Given the description of an element on the screen output the (x, y) to click on. 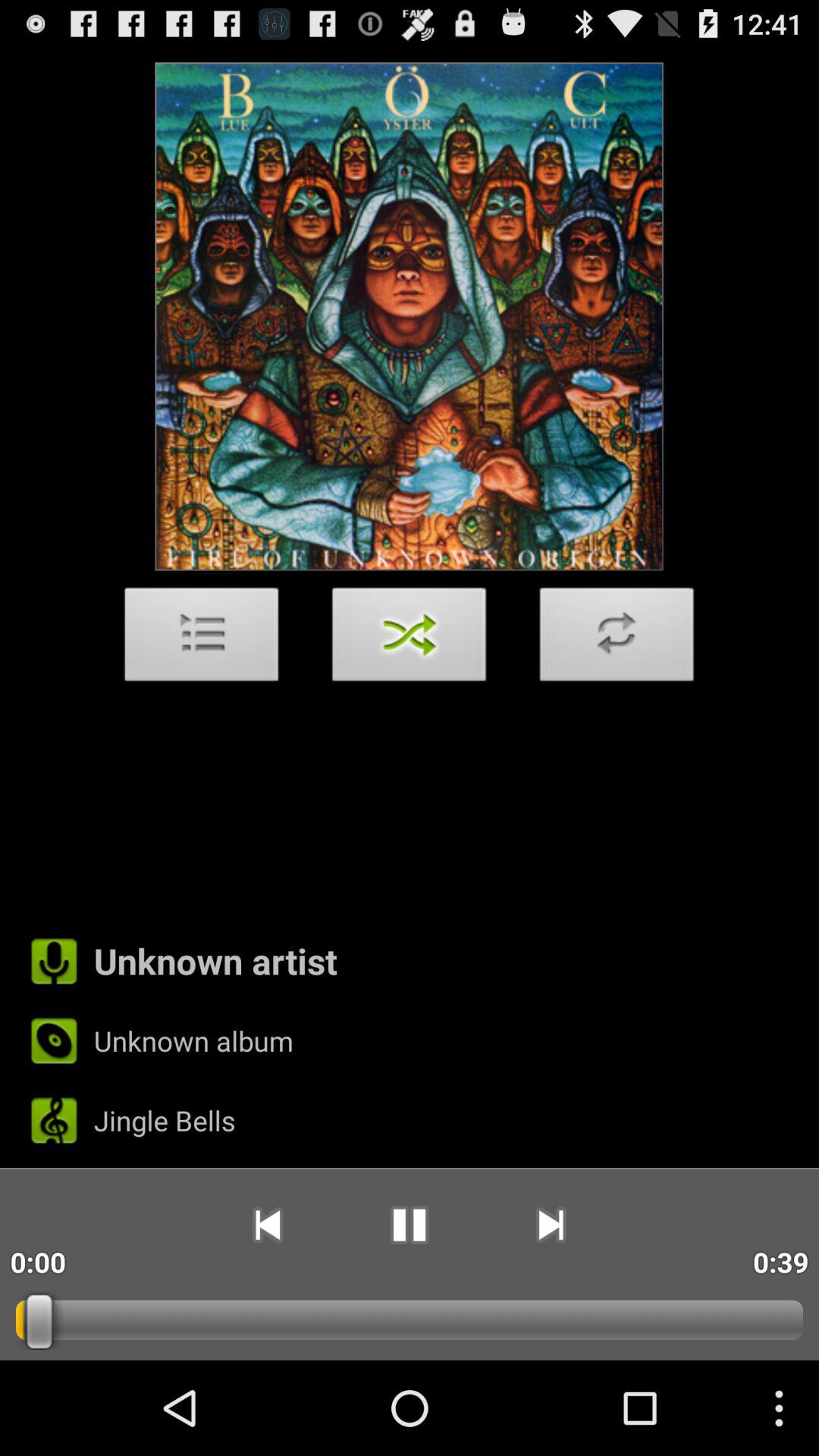
open the item above the unknown artist (201, 638)
